Given the description of an element on the screen output the (x, y) to click on. 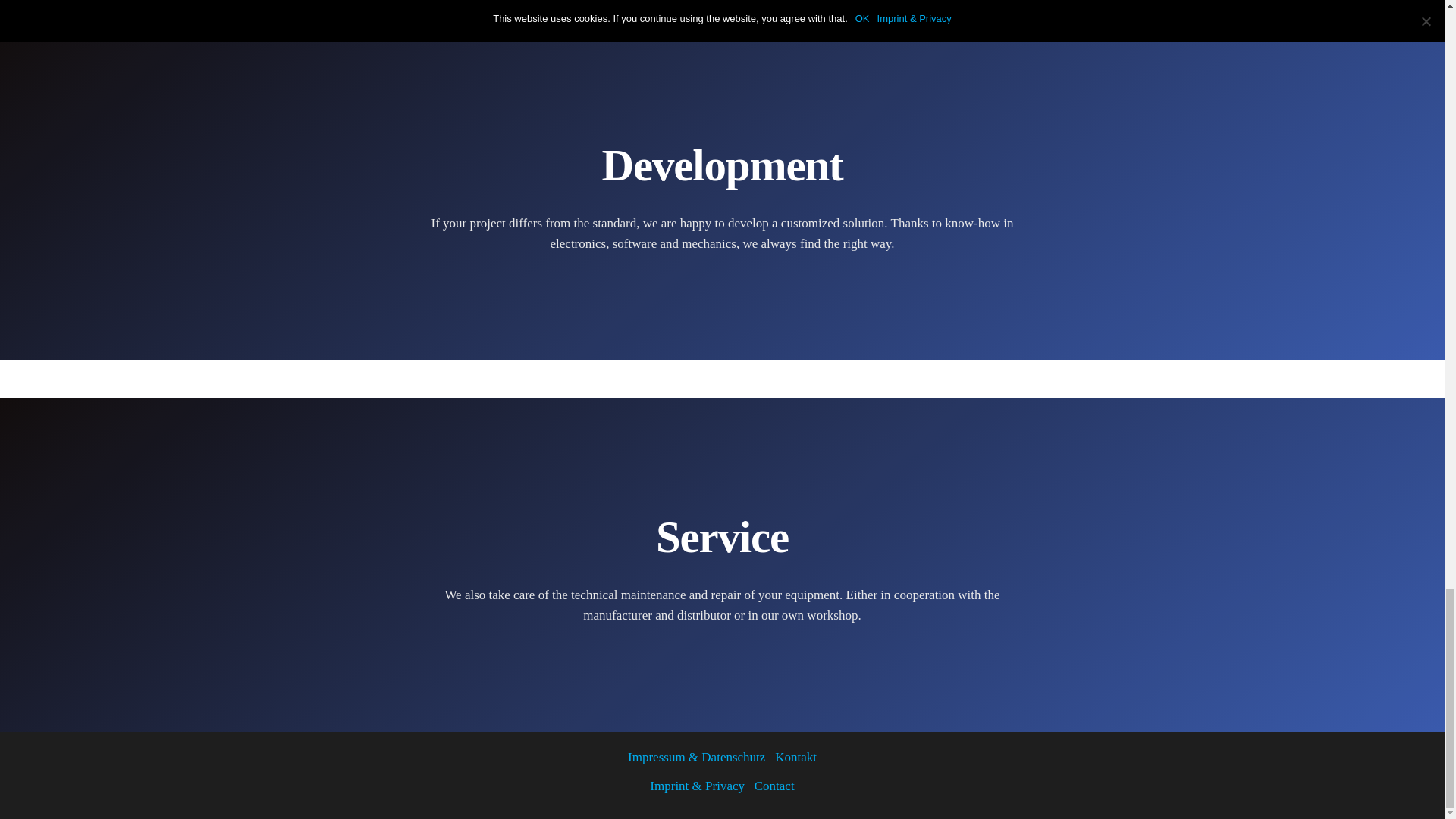
Contact (774, 785)
   Kontakt (790, 757)
